Given the description of an element on the screen output the (x, y) to click on. 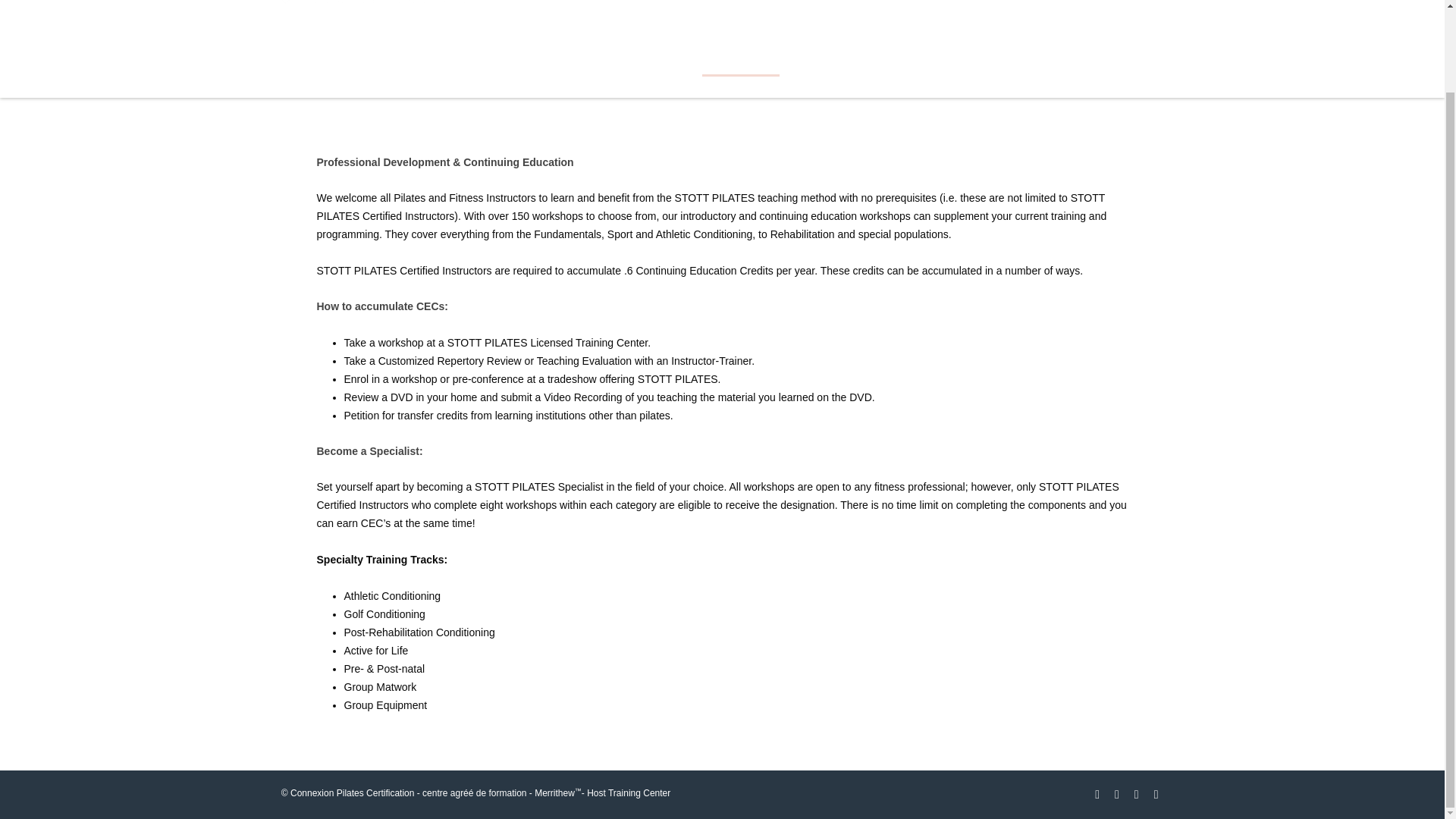
FR (1132, 64)
WORKSHOPS (739, 67)
BEGIN YOUR CAREER (449, 64)
ABOUT (1077, 64)
ADVANCED PROGRAMS (608, 64)
ENROLLMENT (992, 64)
Connexion Pilates Certification (371, 15)
